Given the description of an element on the screen output the (x, y) to click on. 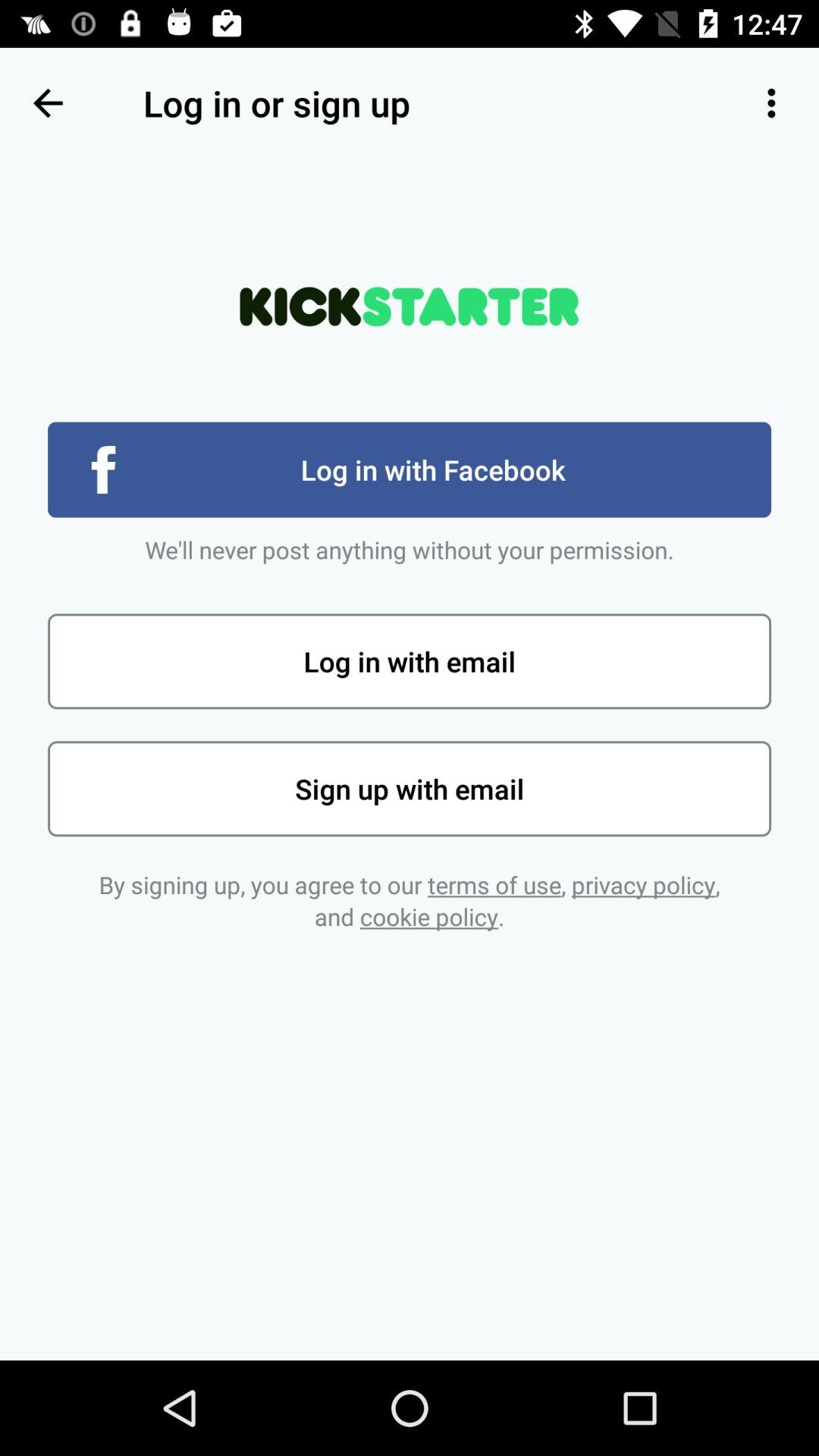
tap by signing up (409, 900)
